Given the description of an element on the screen output the (x, y) to click on. 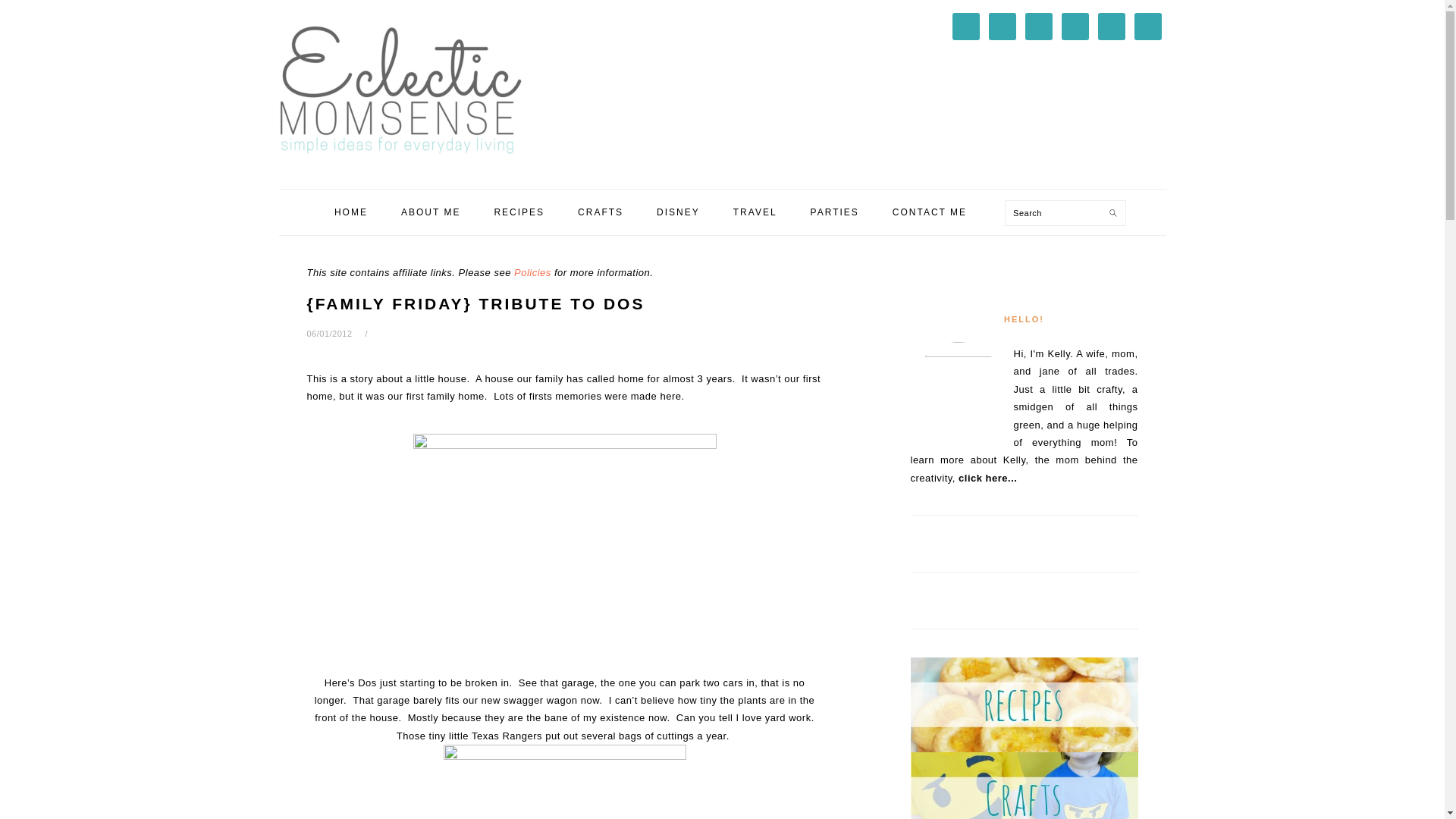
ABOUT ME (430, 212)
CRAFTS (600, 212)
CONTACT ME (929, 212)
HOME (351, 212)
RECIPES (518, 212)
DISNEY (678, 212)
PARTIES (834, 212)
Policies (532, 272)
ECLECTIC MOMSENSE (400, 89)
TRAVEL (755, 212)
